Given the description of an element on the screen output the (x, y) to click on. 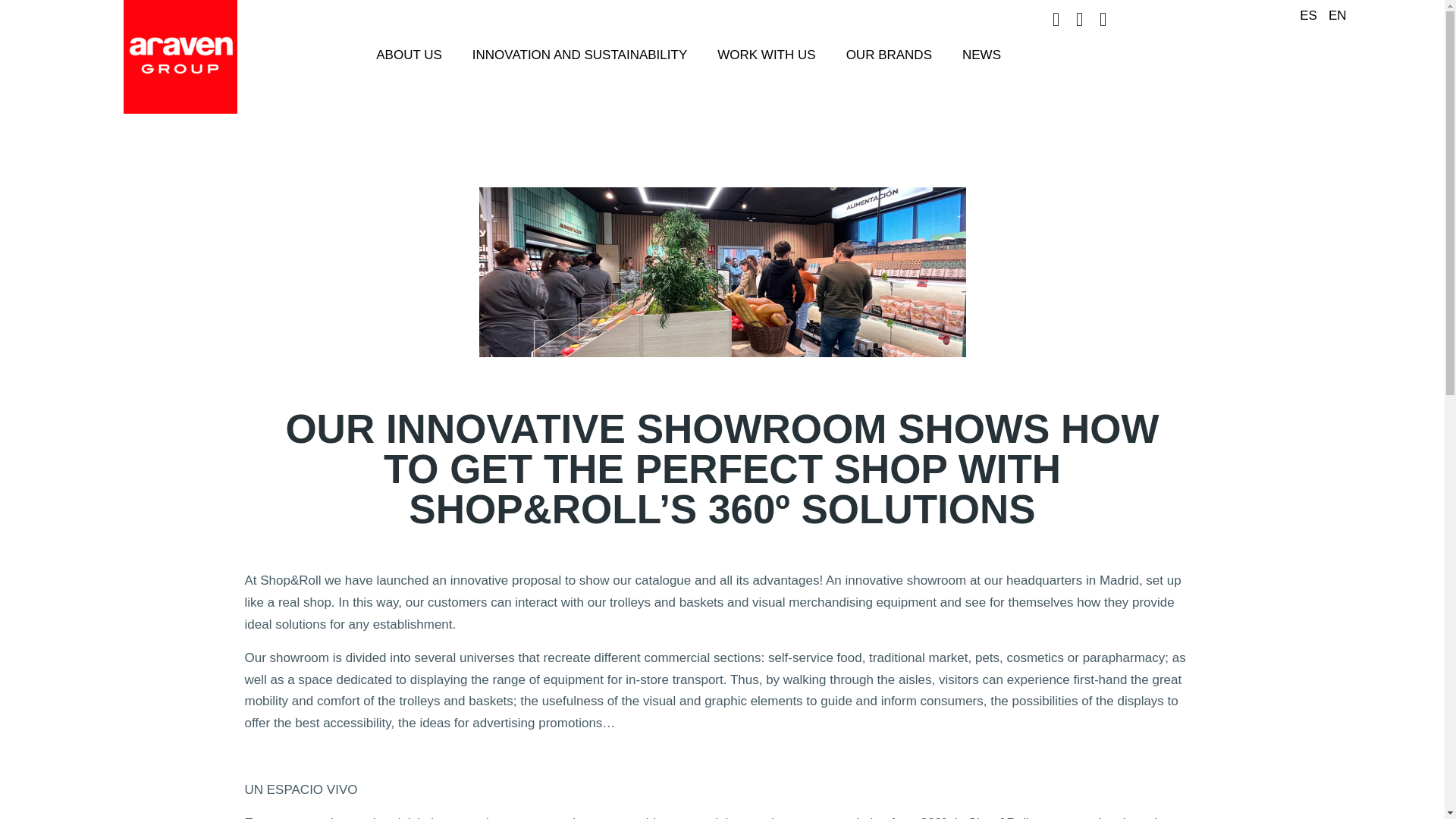
EN (1333, 15)
NEWS (981, 54)
INNOVATION AND SUSTAINABILITY (579, 54)
WORK WITH US (765, 54)
ES (1304, 15)
ABOUT US (409, 54)
OUR BRANDS (889, 54)
